Given the description of an element on the screen output the (x, y) to click on. 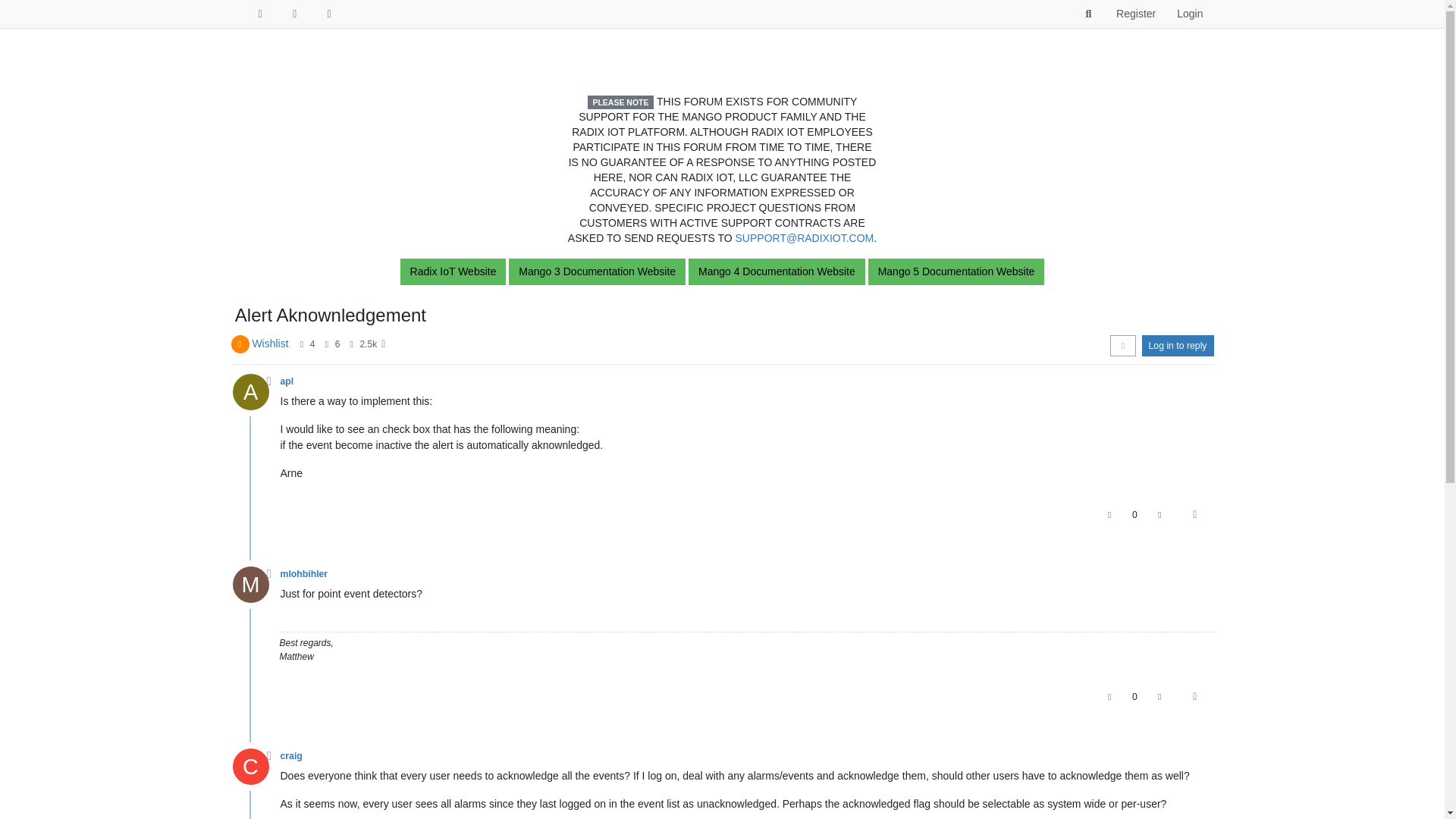
Mango 5 Documentation Website (956, 271)
apl (249, 391)
Mango 3 Documentation Website (596, 271)
Radix IoT Website (453, 271)
Search (1088, 14)
apl (287, 380)
Views (351, 343)
Login (1189, 13)
Register (1135, 13)
A (255, 395)
Wishlist (269, 343)
Log in to reply (1177, 345)
Sort by (1122, 345)
Tags (295, 13)
Popular (330, 13)
